Given the description of an element on the screen output the (x, y) to click on. 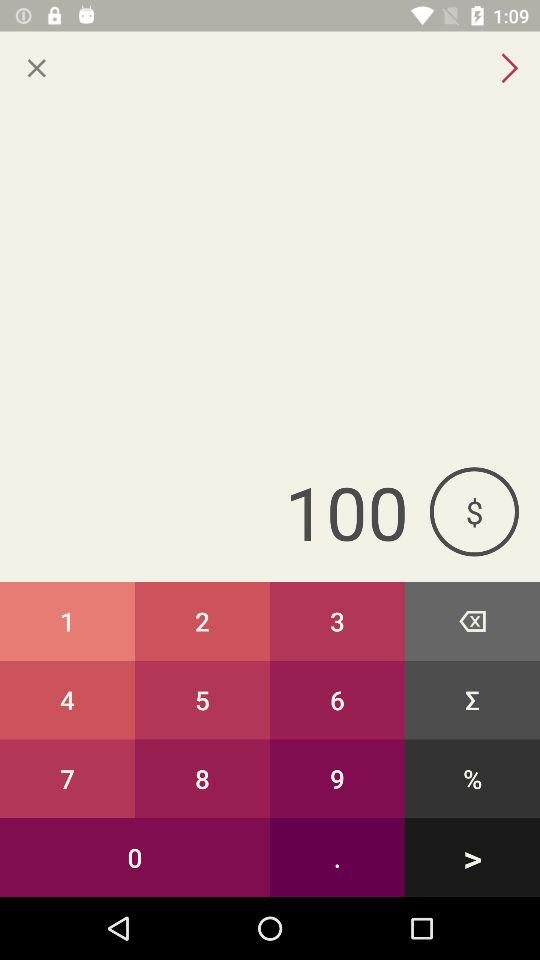
flip until the 9 (337, 778)
